Given the description of an element on the screen output the (x, y) to click on. 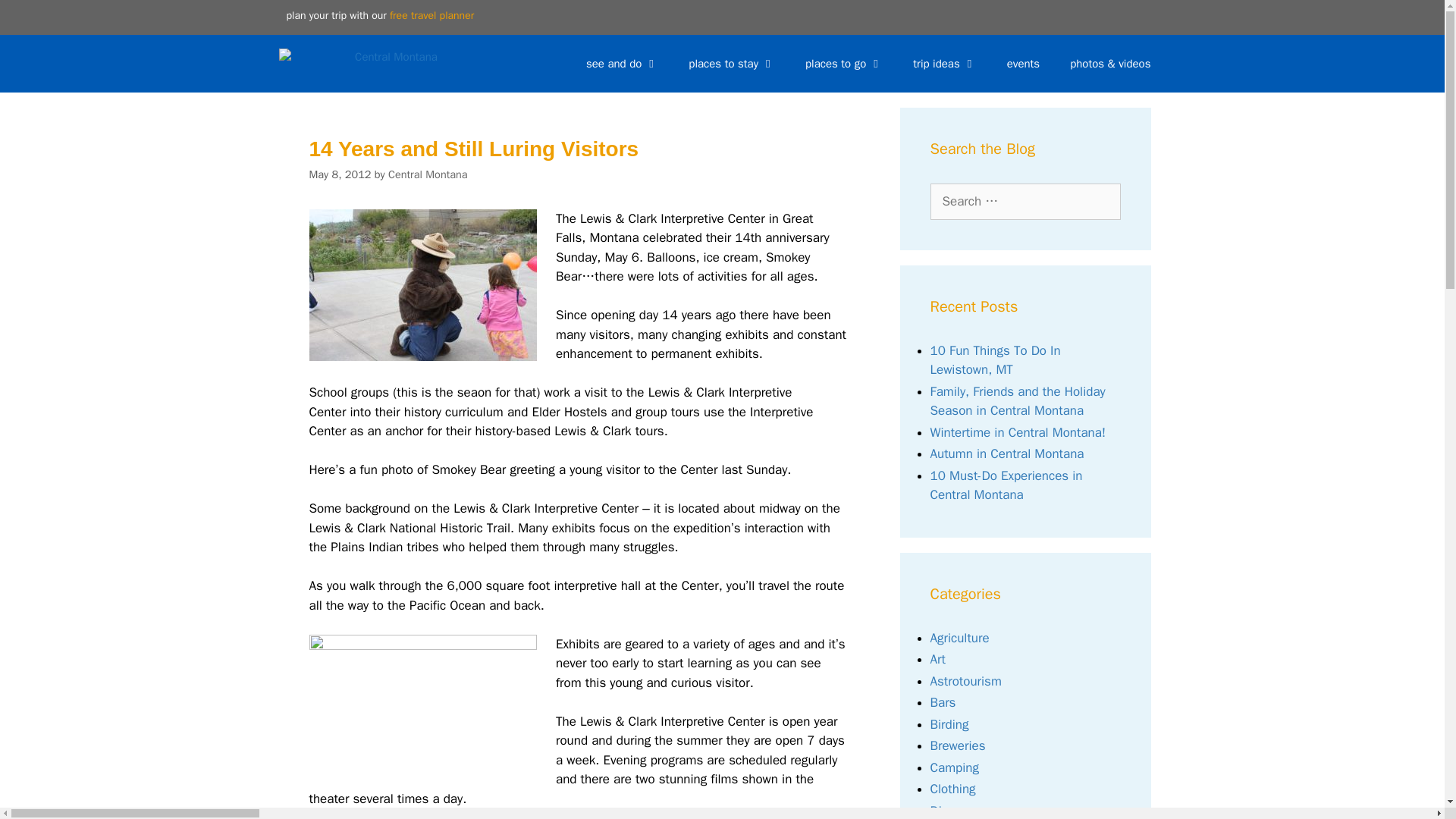
Central Montana (358, 63)
YouTube (643, 17)
Instagram (603, 17)
Order Travel Planner (432, 15)
Central Montana (362, 63)
free travel planner (432, 15)
TripAdvisor (485, 17)
Search for: (1024, 201)
Twitter (564, 17)
see and do (621, 63)
